Given the description of an element on the screen output the (x, y) to click on. 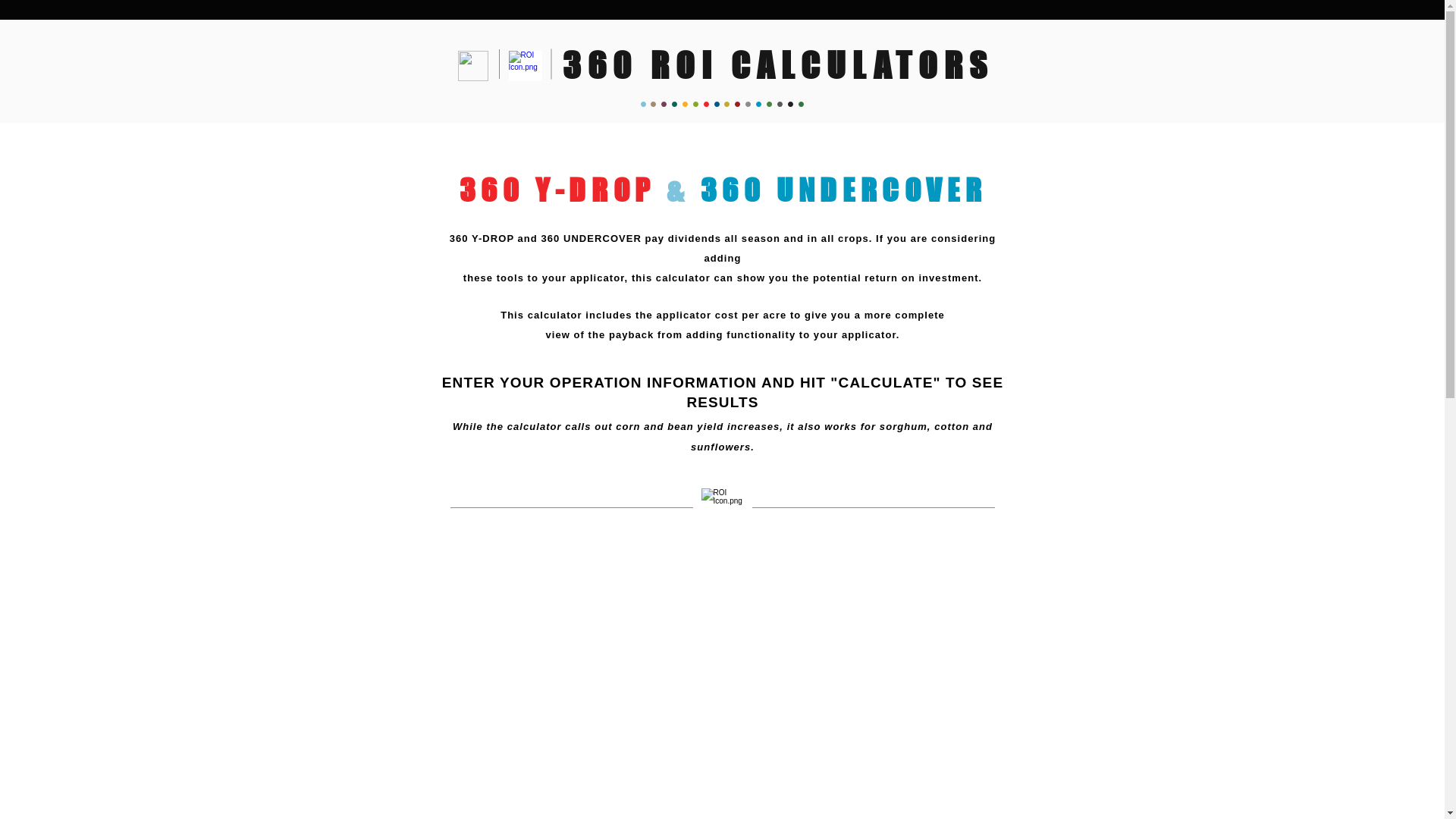
360 ROI CALCULATORS Element type: text (777, 66)
360_Circle_Mark_100k.png Element type: hover (473, 65)
